Given the description of an element on the screen output the (x, y) to click on. 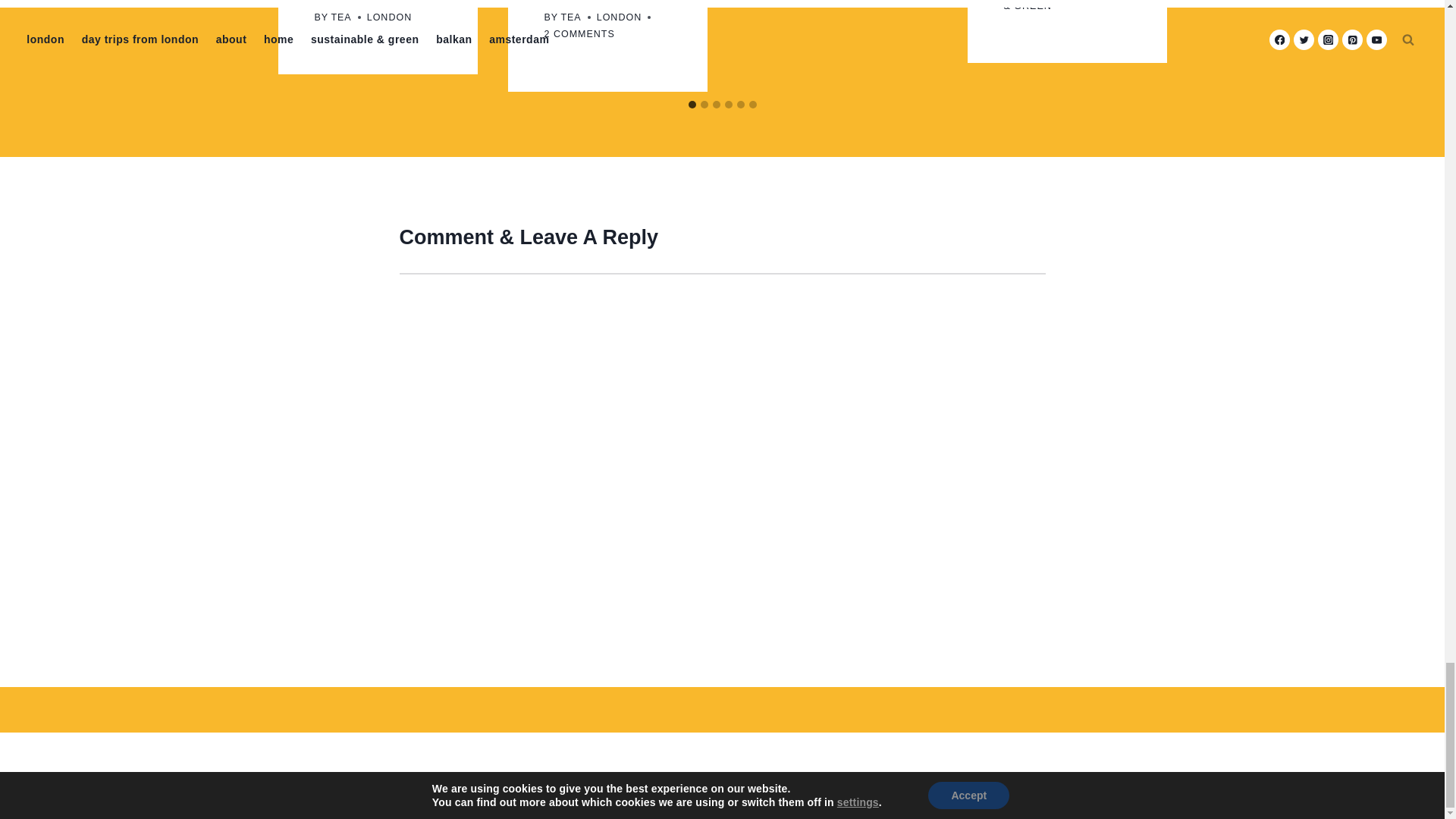
TEA (570, 17)
LONDON (389, 17)
LONDON (619, 17)
2 COMMENTS (579, 34)
2 COMMENTS (579, 34)
TEA (340, 17)
